Given the description of an element on the screen output the (x, y) to click on. 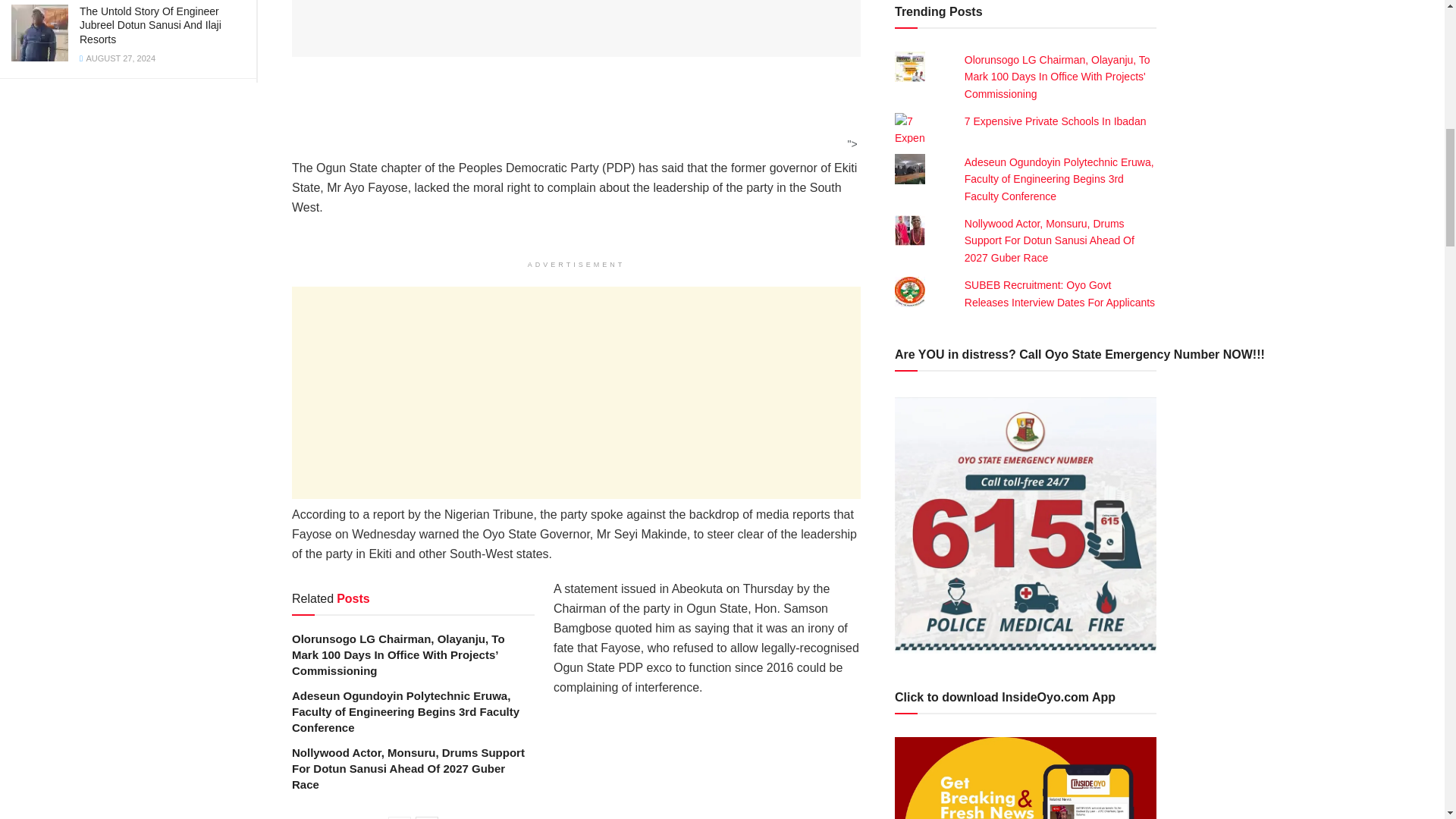
Advertisement (576, 392)
Next (426, 817)
Advertisement (571, 113)
Previous (399, 817)
